Given the description of an element on the screen output the (x, y) to click on. 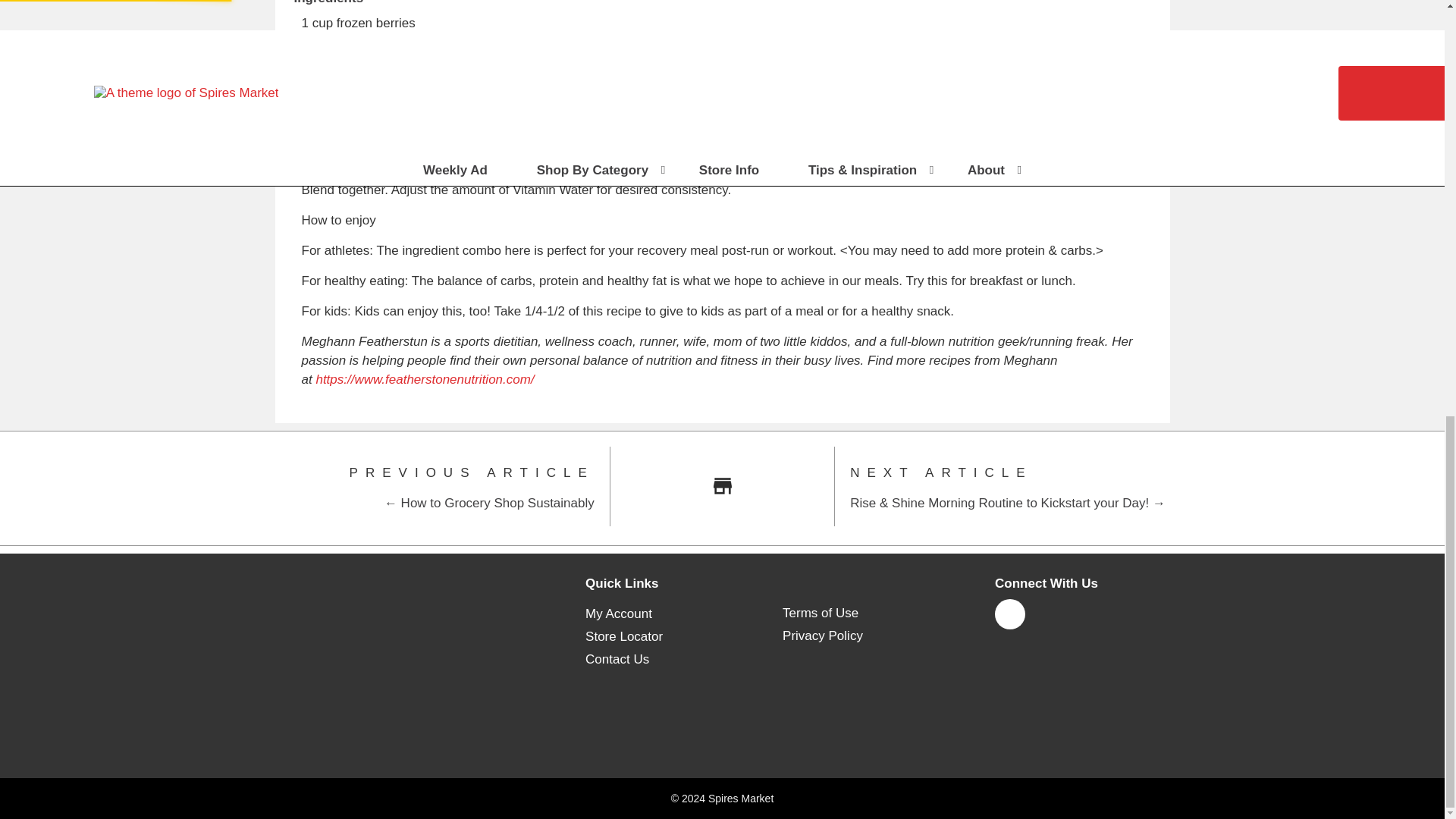
Terms of Use (821, 613)
Contact Us (617, 659)
facebook (1009, 621)
Store Locator (623, 636)
Privacy Policy (823, 635)
My Account (618, 613)
